Given the description of an element on the screen output the (x, y) to click on. 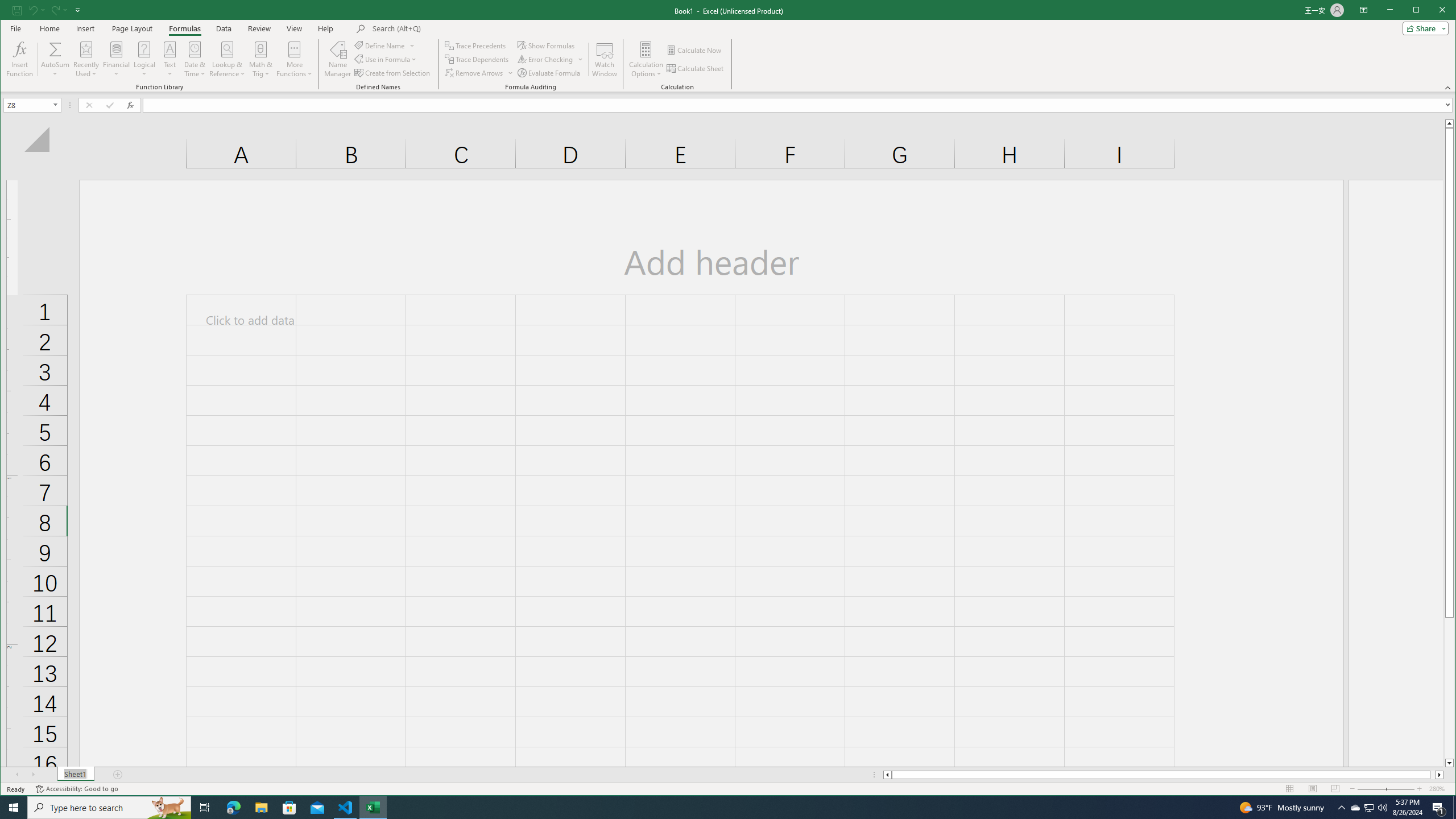
Remove Arrows (474, 72)
Q2790: 100% (1382, 807)
Math & Trig (260, 59)
Logical (144, 59)
Trace Precedents (475, 45)
Insert Function... (19, 59)
Type here to search (108, 807)
Calculate Sheet (696, 68)
